Given the description of an element on the screen output the (x, y) to click on. 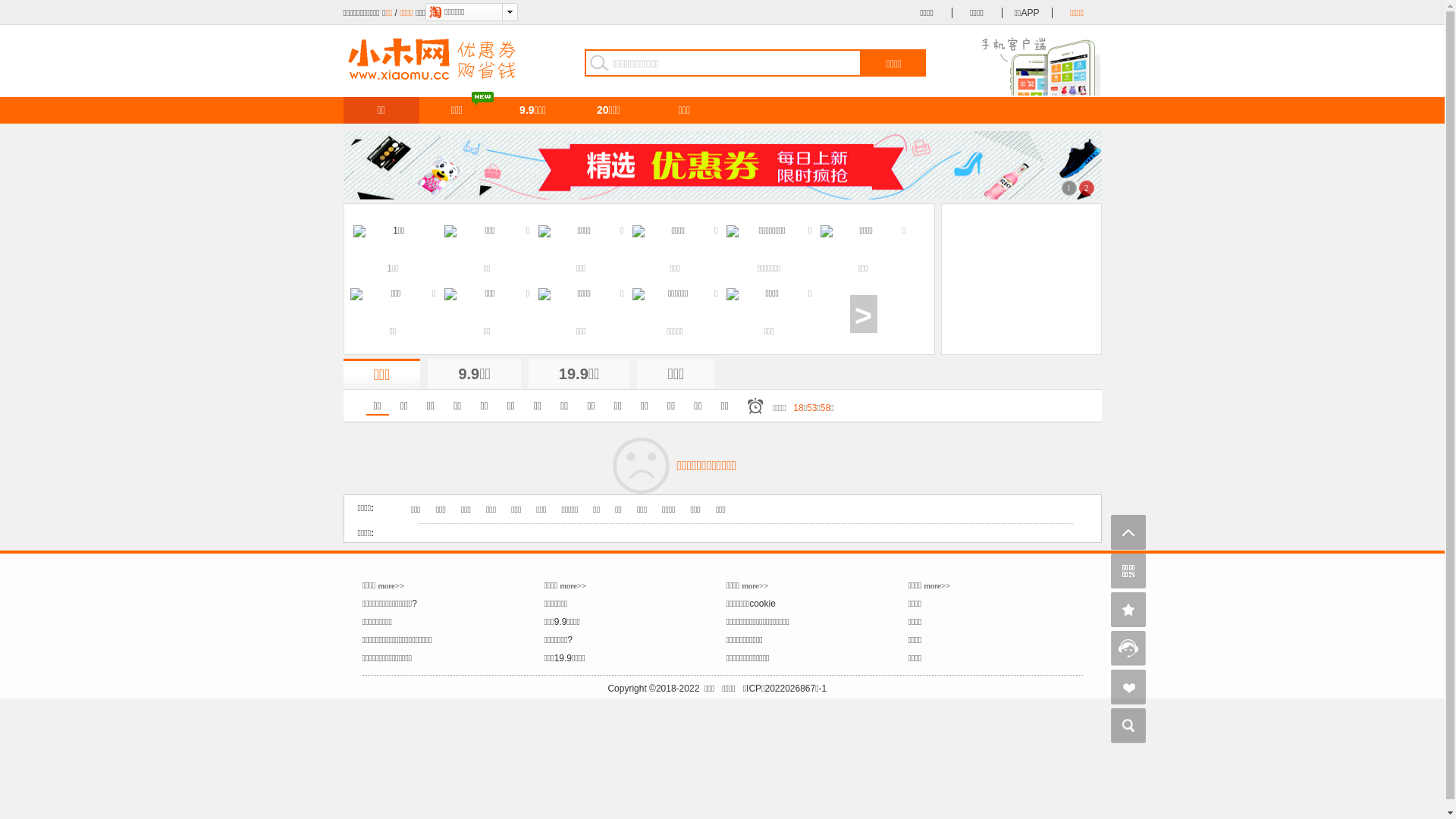
> Element type: text (862, 313)
  Element type: text (1021, 279)
